Given the description of an element on the screen output the (x, y) to click on. 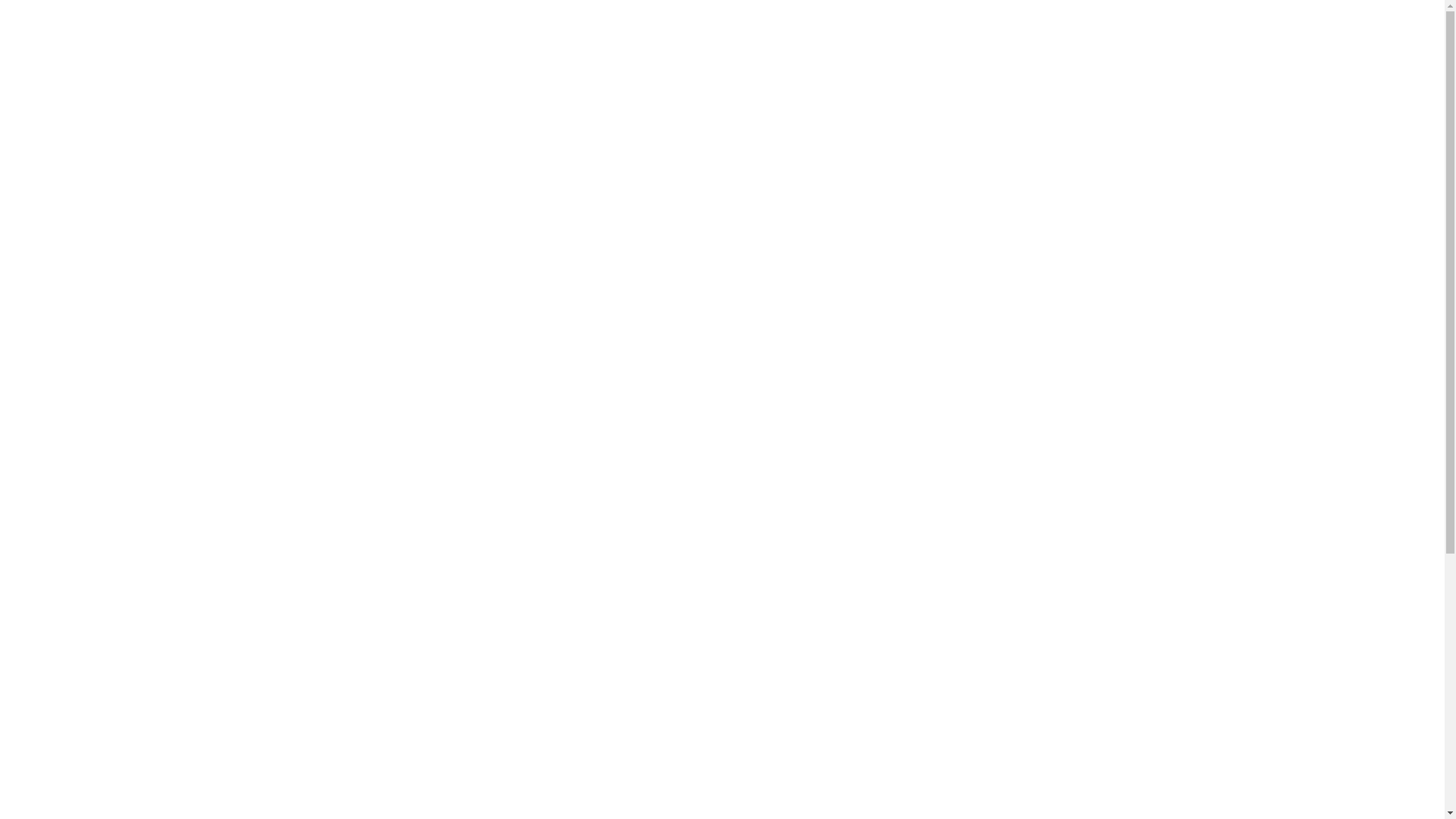
WWW.B34CATERING.BRUSSELS Element type: text (718, 788)
